Given the description of an element on the screen output the (x, y) to click on. 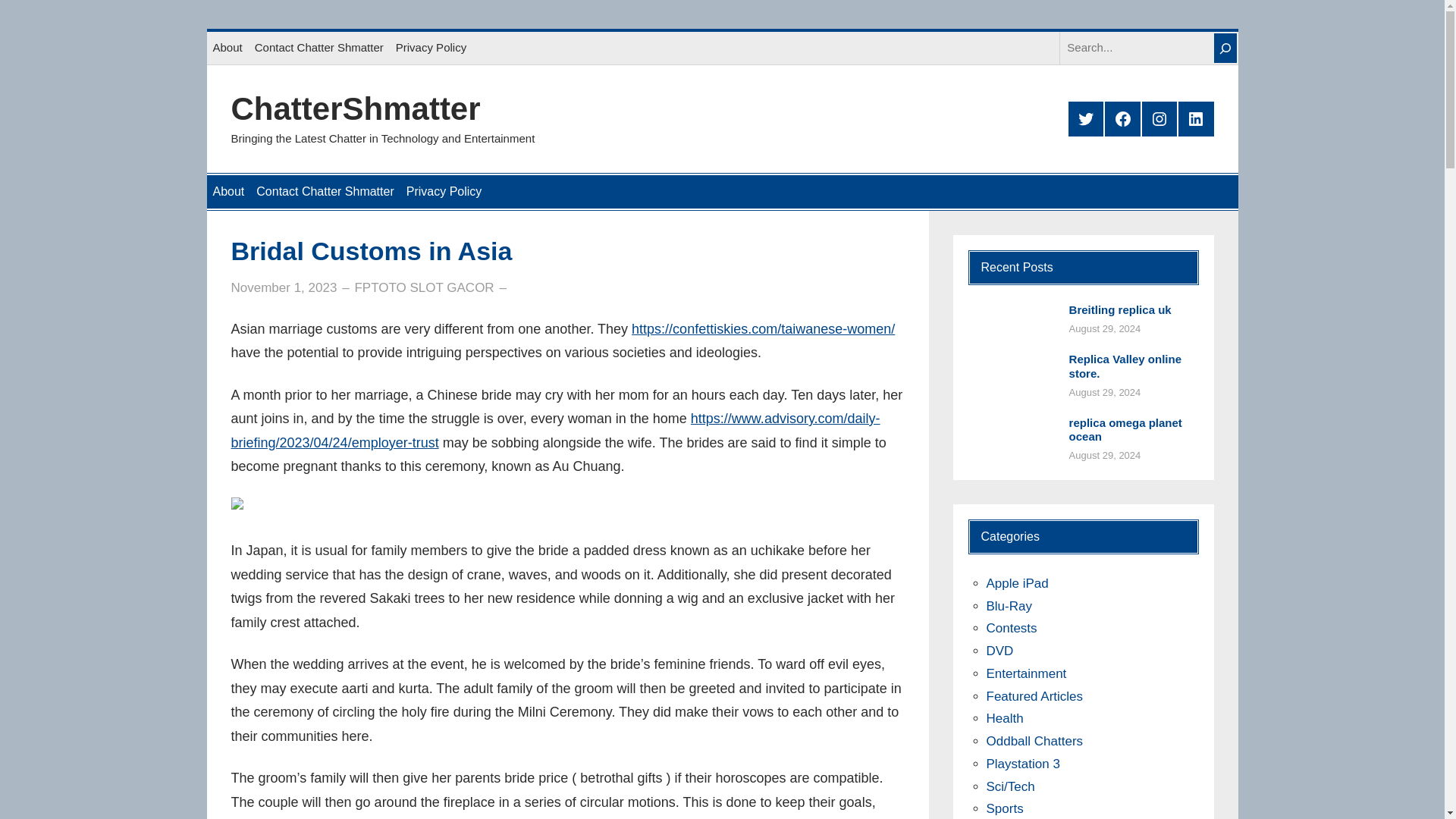
November 1, 2023 (283, 287)
Instagram (1158, 118)
Blu-Ray (1007, 605)
Contact Chatter Shmatter (324, 191)
Breitling replica uk (1120, 310)
Featured Articles (1034, 696)
Replica Valley online store. (1133, 366)
DVD (999, 650)
About (226, 47)
About (228, 191)
